Given the description of an element on the screen output the (x, y) to click on. 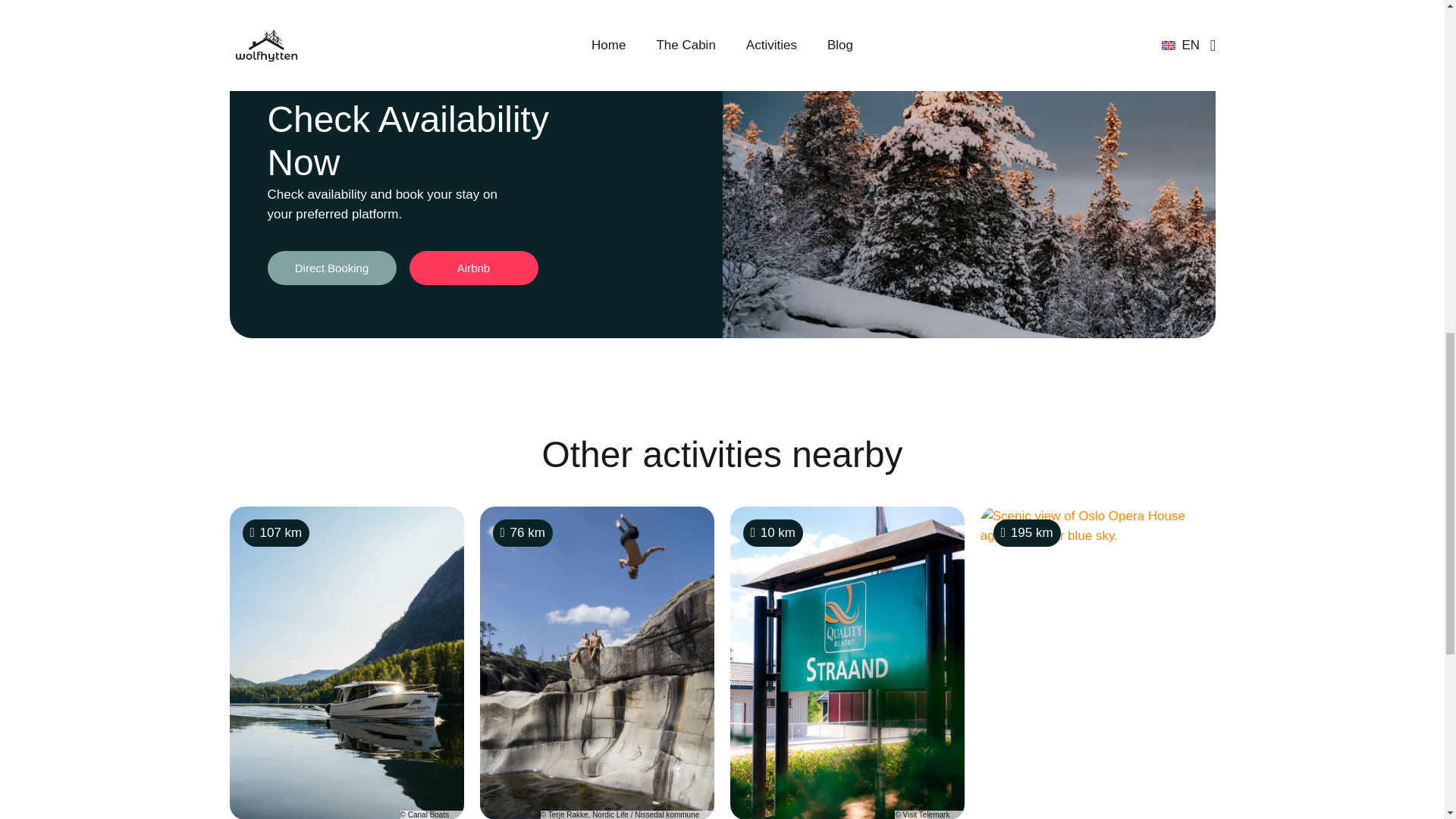
Back to top (1413, 26)
Direct Booking (331, 267)
Airbnb (473, 267)
